Given the description of an element on the screen output the (x, y) to click on. 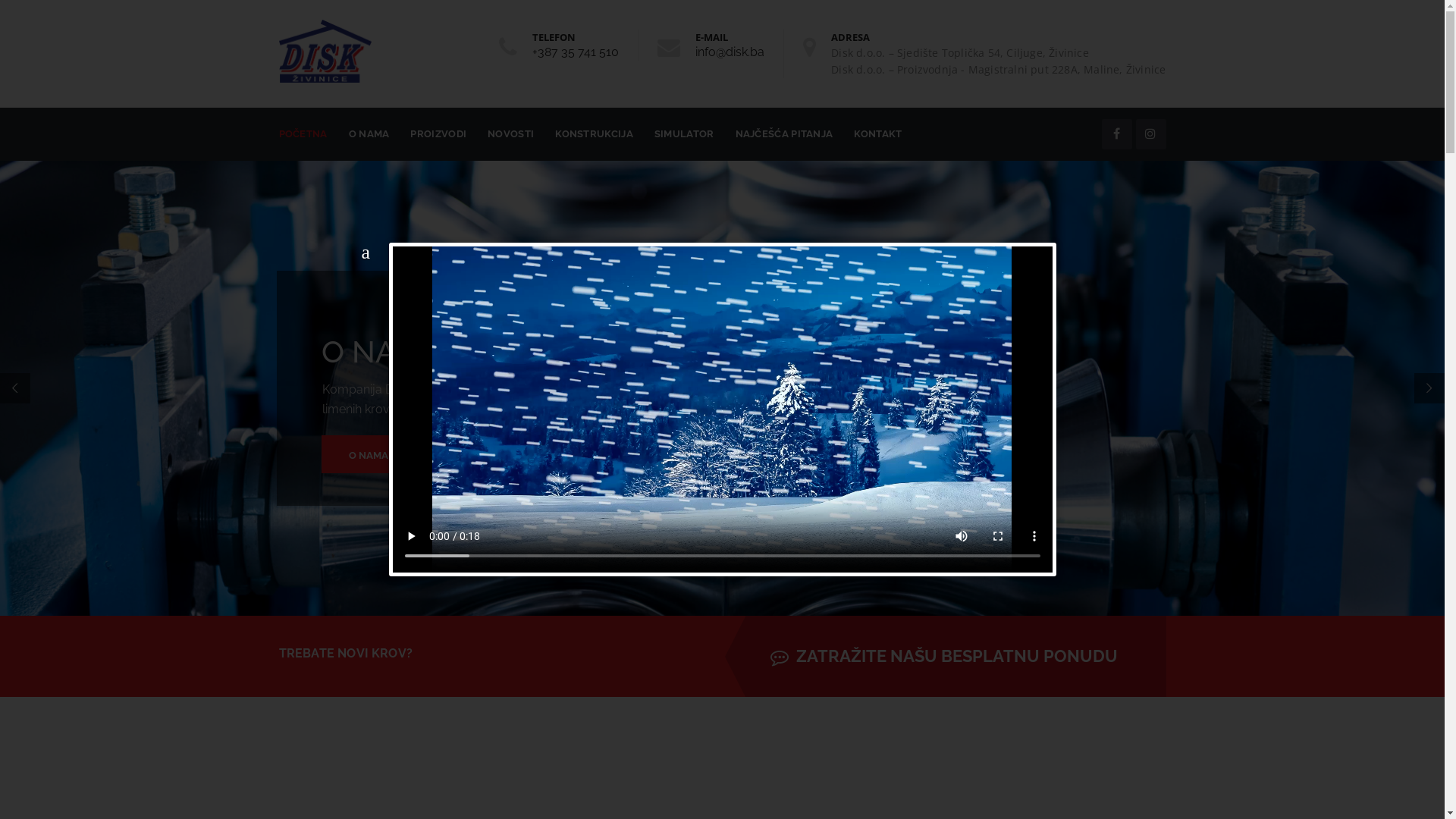
PROIZVODI Element type: text (438, 133)
NOVOSTI Element type: text (510, 133)
info@disk.ba Element type: text (729, 51)
SIMULATOR Element type: text (684, 133)
O NAMA Element type: text (368, 133)
KONTAKT Element type: text (877, 133)
+387 35 741 510 Element type: text (575, 51)
O NAMA Element type: text (381, 454)
KONSTRUKCIJA Element type: text (594, 133)
